Given the description of an element on the screen output the (x, y) to click on. 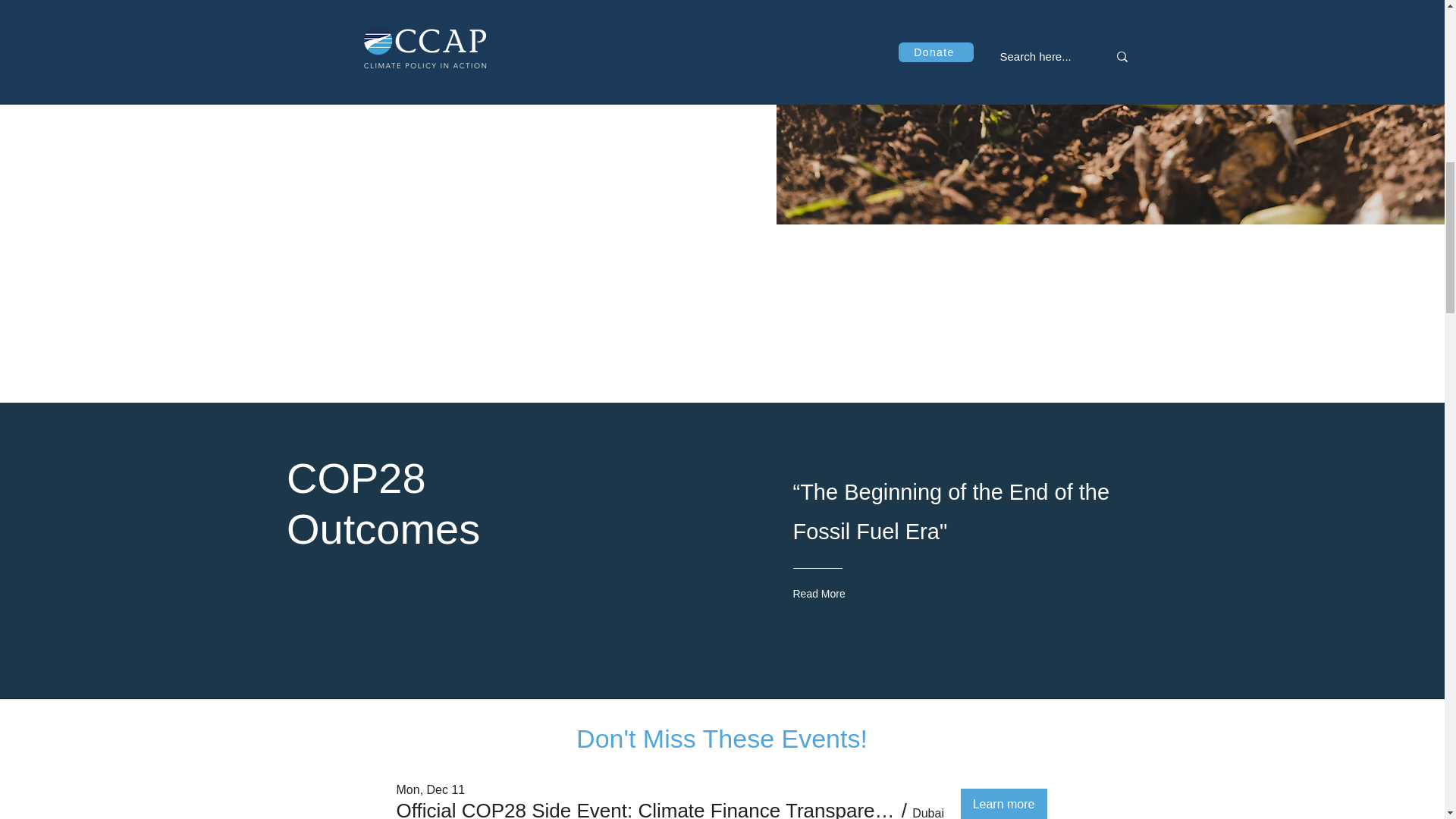
Learn more (1003, 803)
Read More (854, 593)
